Given the description of an element on the screen output the (x, y) to click on. 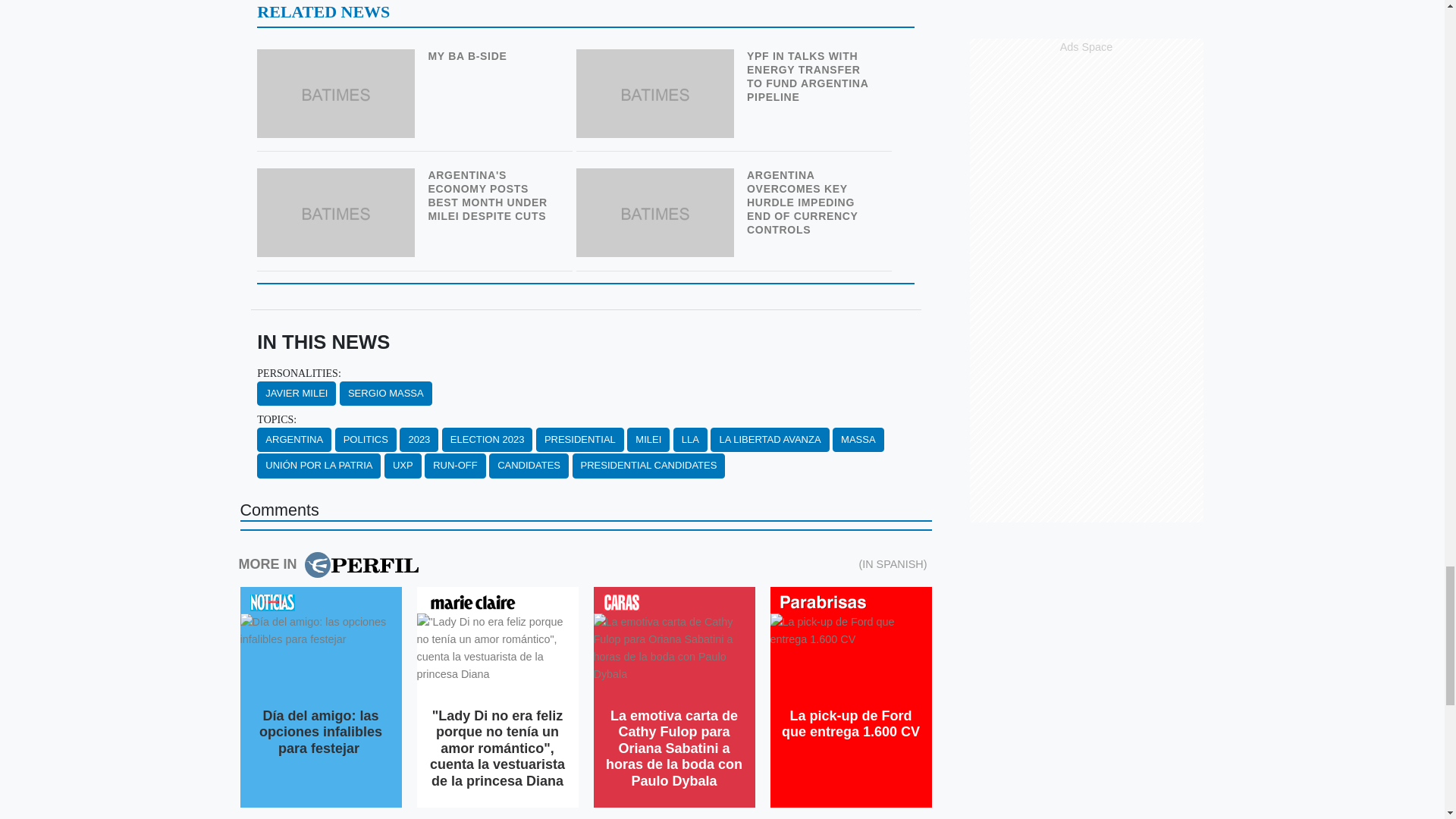
Read My BA B-side (338, 59)
